Given the description of an element on the screen output the (x, y) to click on. 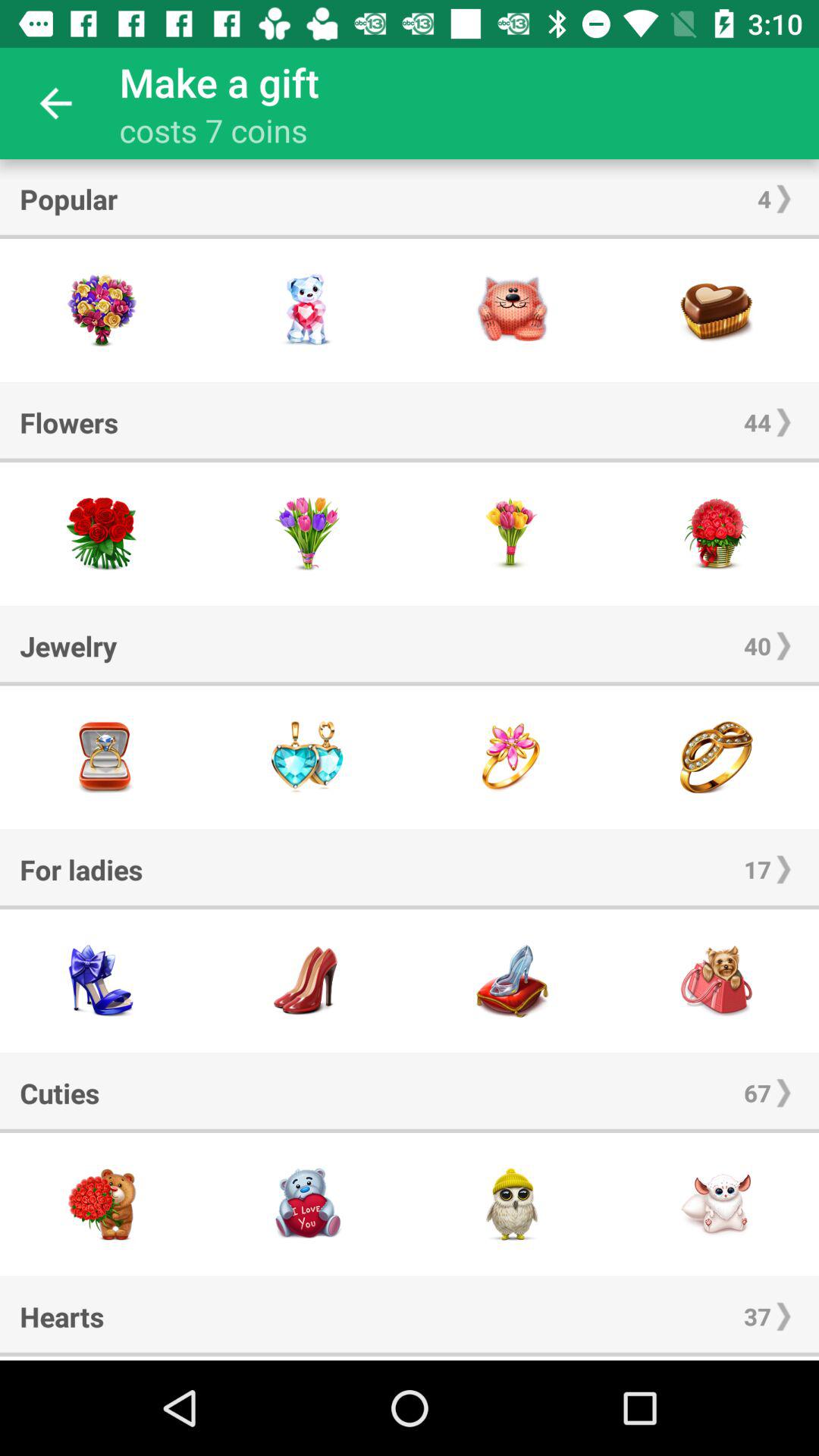
gift option (716, 310)
